Given the description of an element on the screen output the (x, y) to click on. 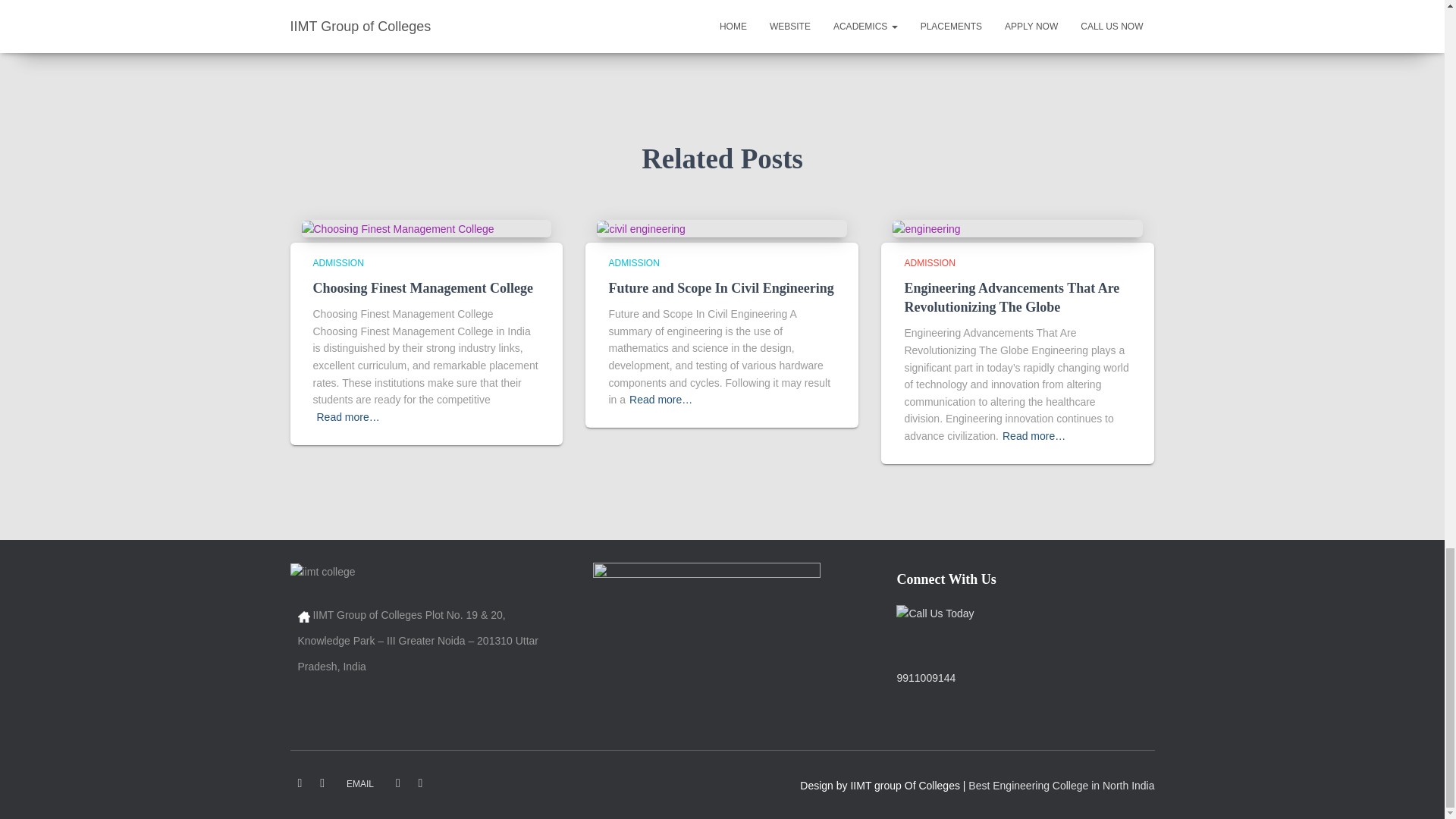
Choosing Finest Management College (422, 287)
Future and Scope In Civil Engineering (640, 227)
Choosing Finest Management College (398, 227)
View all posts in Admission (337, 262)
